Given the description of an element on the screen output the (x, y) to click on. 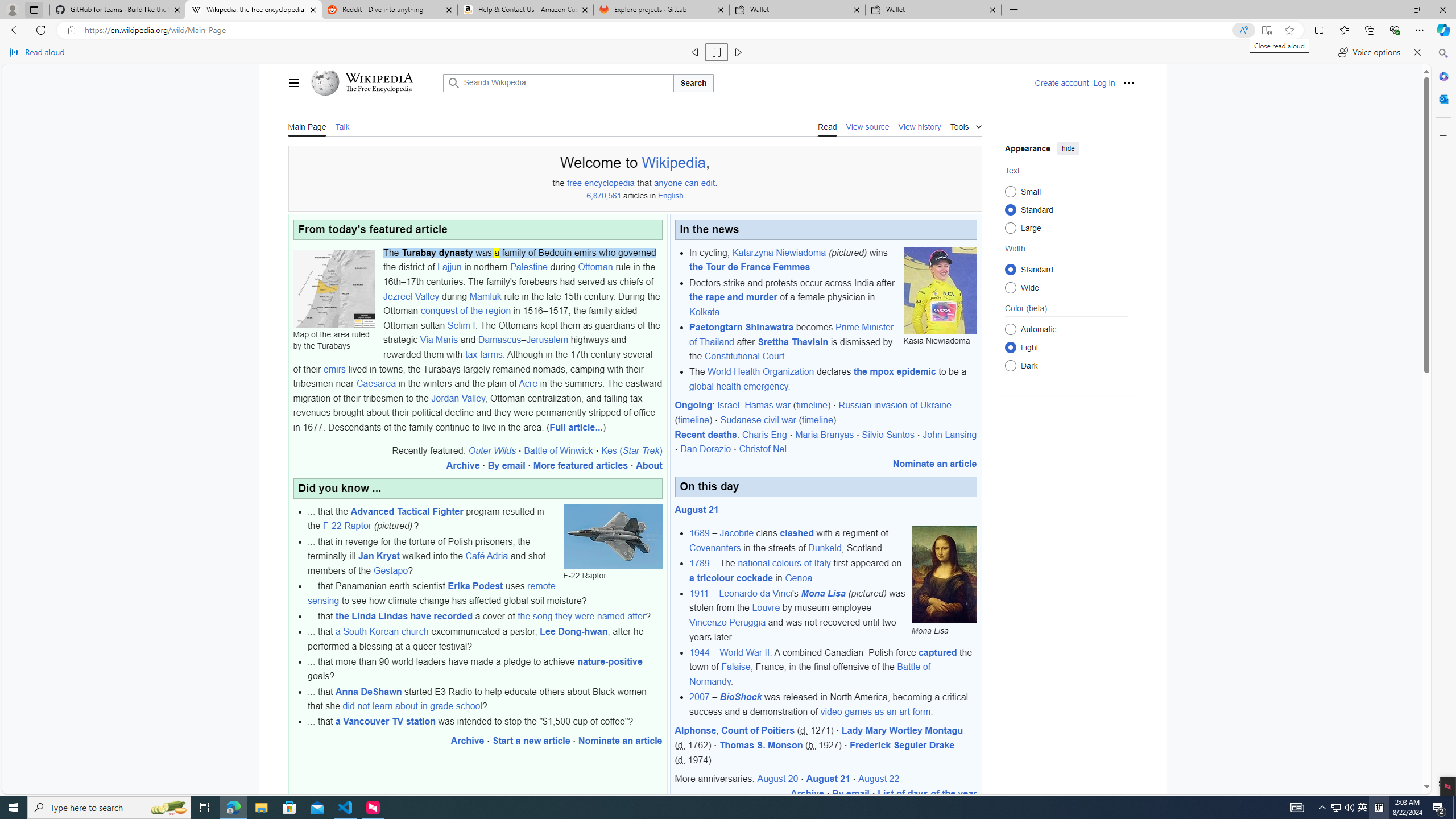
Search Wikipedia (558, 82)
View source (867, 125)
Falaise (735, 666)
BioShock (740, 697)
emirs (334, 368)
Create account (1062, 82)
View source (867, 125)
View history (919, 125)
Silvio Santos (888, 434)
Jezreel Valley (410, 296)
Genoa (798, 577)
the song they were named after (581, 615)
Mona Lisa (943, 574)
